Given the description of an element on the screen output the (x, y) to click on. 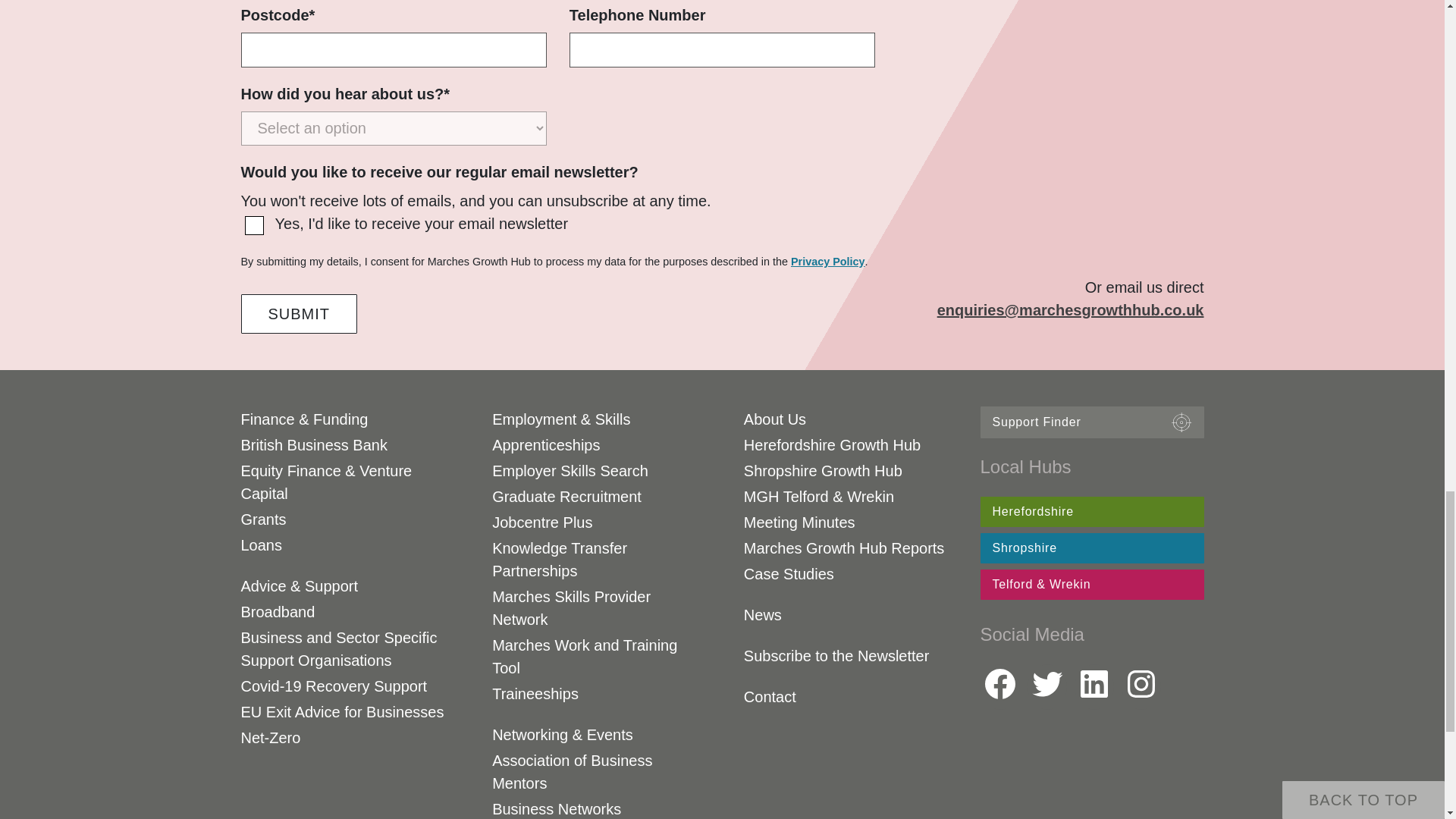
newsletter (253, 225)
Submit (299, 313)
